Given the description of an element on the screen output the (x, y) to click on. 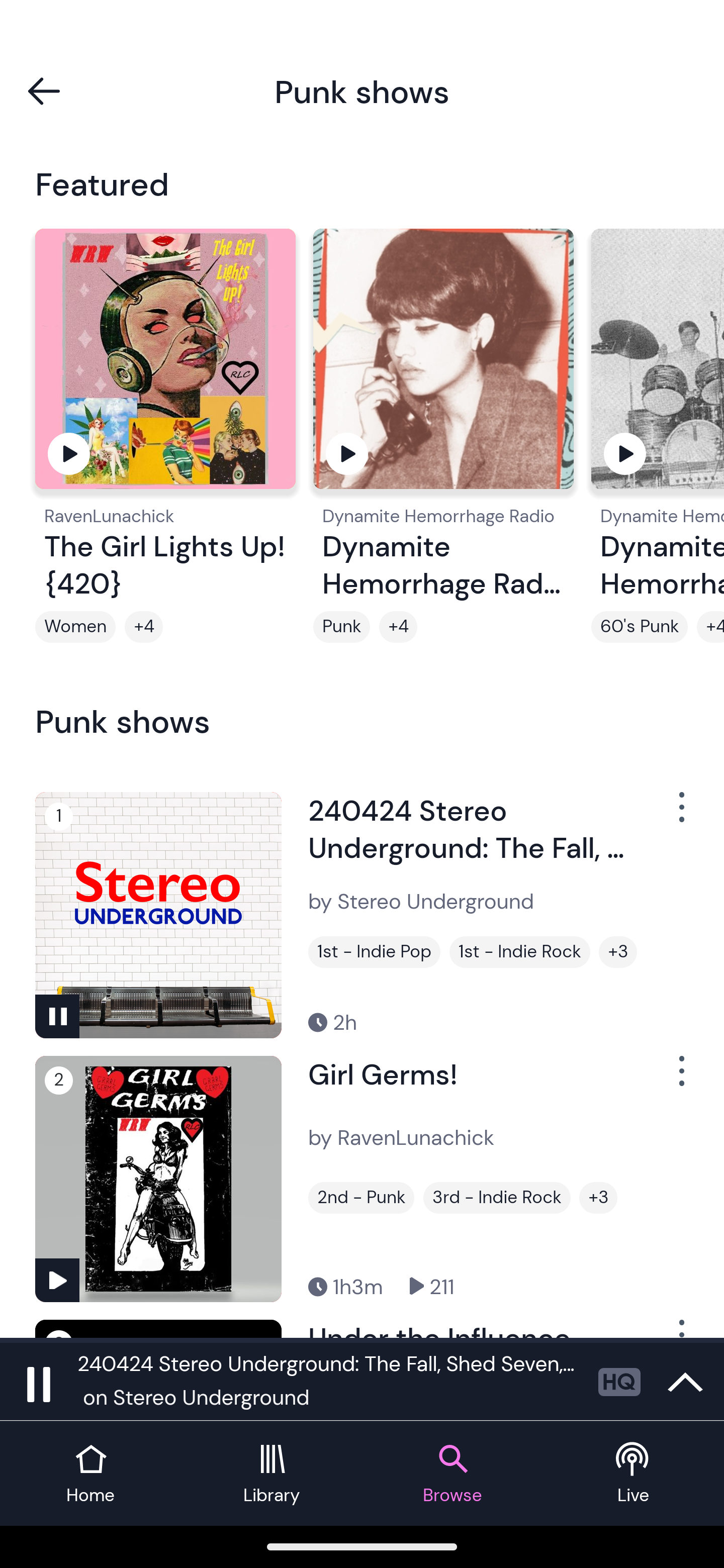
Women (75, 626)
Punk (341, 626)
60's Punk (639, 626)
Show Options Menu Button (679, 814)
1st - Indie Pop (374, 951)
1st - Indie Rock (519, 951)
Show Options Menu Button (679, 1078)
2nd - Punk (361, 1197)
3rd - Indie Rock (496, 1197)
Home tab Home (90, 1473)
Library tab Library (271, 1473)
Browse tab Browse (452, 1473)
Live tab Live (633, 1473)
